Given the description of an element on the screen output the (x, y) to click on. 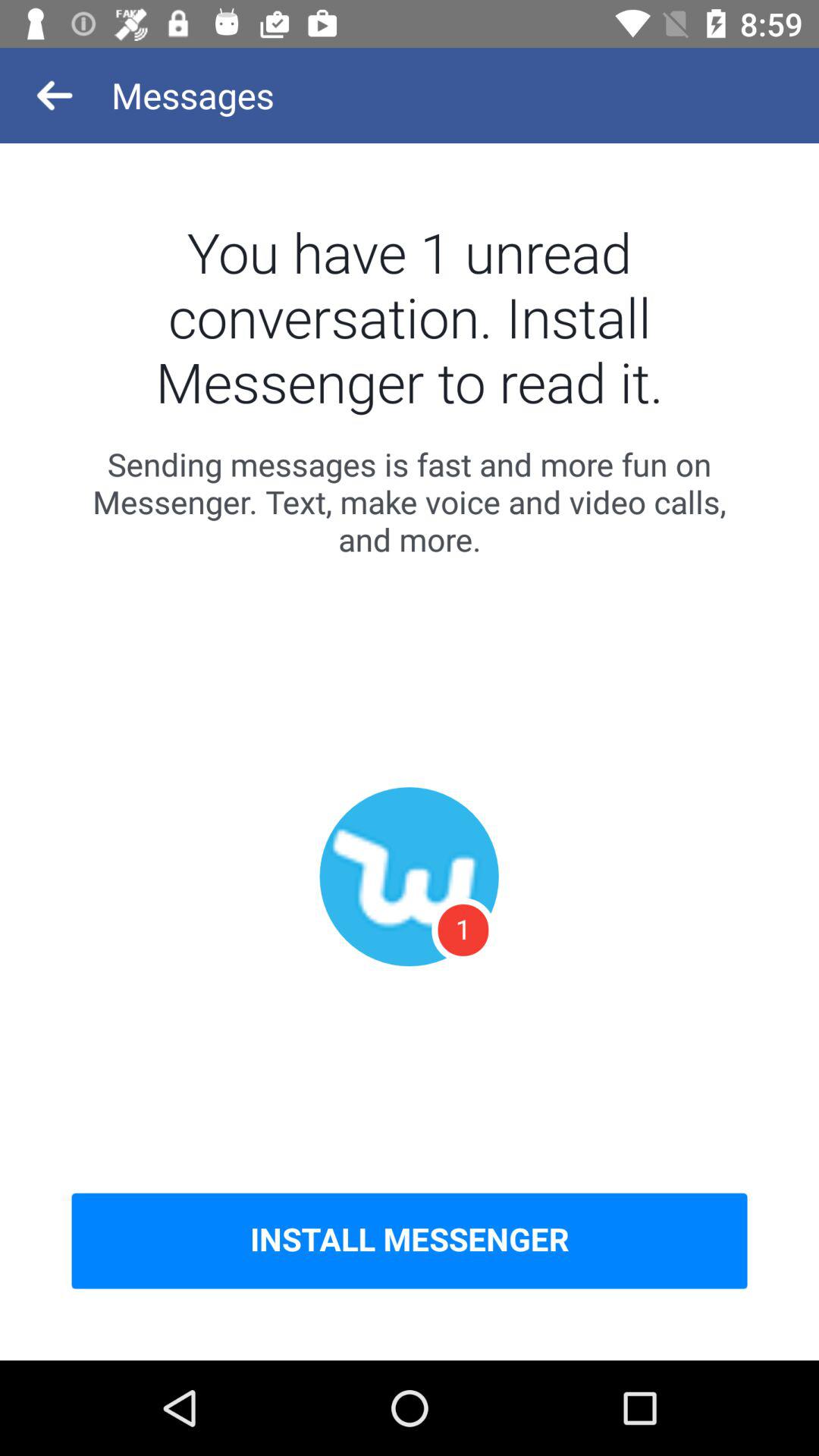
turn on icon next to messages (55, 95)
